Given the description of an element on the screen output the (x, y) to click on. 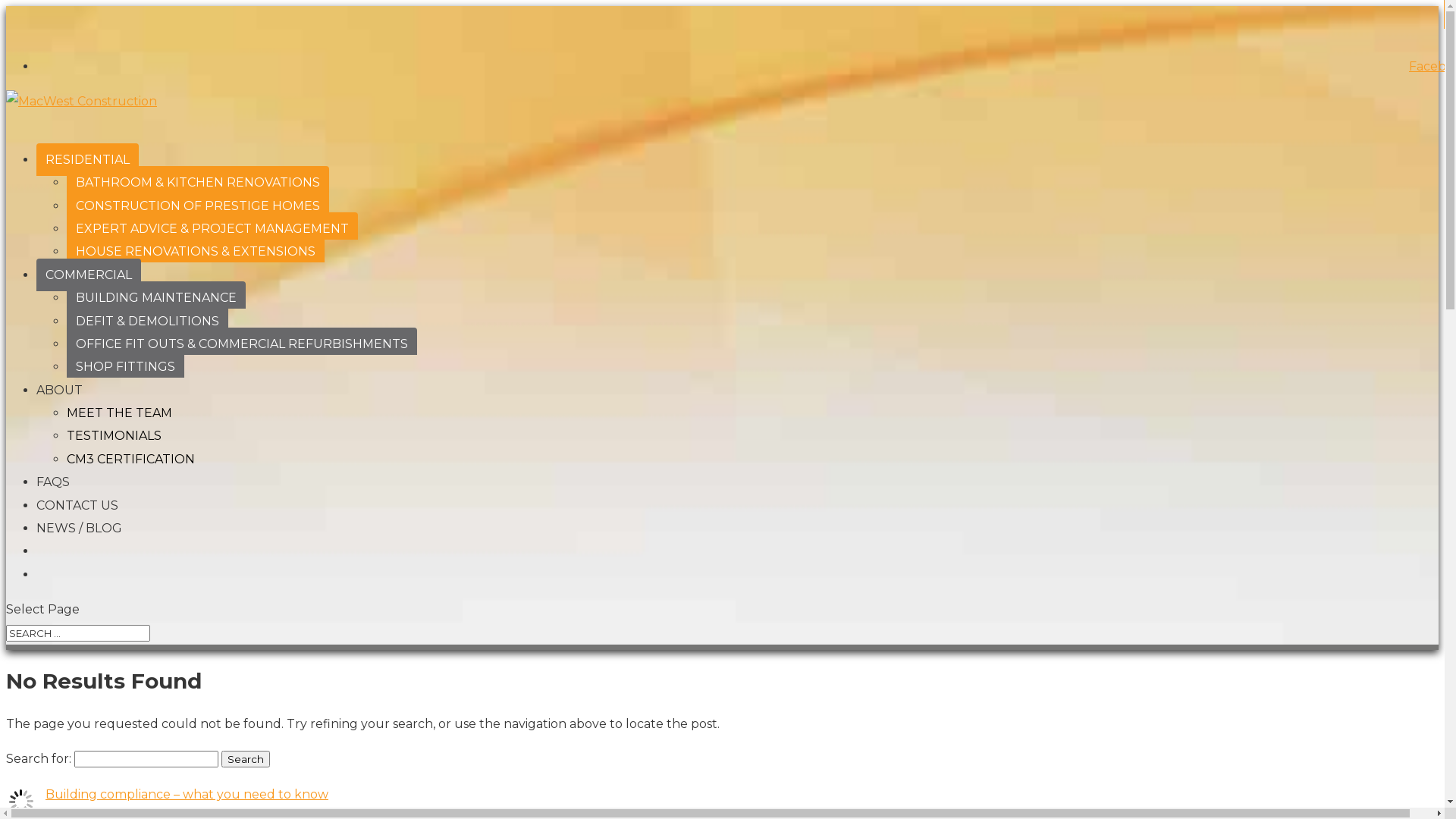
HOUSE RENOVATIONS & EXTENSIONS Element type: text (195, 248)
DEFIT & DEMOLITIONS Element type: text (147, 318)
BATHROOM & KITCHEN RENOVATIONS Element type: text (197, 179)
NEWS / BLOG Element type: text (79, 532)
CONSTRUCTION OF PRESTIGE HOMES Element type: text (197, 202)
COMMERCIAL Element type: text (88, 274)
OFFICE FIT OUTS & COMMERCIAL REFURBISHMENTS Element type: text (241, 340)
SHOP FITTINGS Element type: text (125, 363)
MEET THE TEAM Element type: text (119, 412)
TESTIMONIALS Element type: text (113, 435)
Search for: Element type: hover (78, 632)
CONTACT US Element type: text (77, 509)
Search Element type: text (245, 758)
FAQS Element type: text (52, 486)
ABOUT Element type: text (59, 394)
EXPERT ADVICE & PROJECT MANAGEMENT Element type: text (211, 225)
CM3 CERTIFICATION Element type: text (130, 458)
RESIDENTIAL Element type: text (87, 159)
BUILDING MAINTENANCE Element type: text (155, 294)
